Given the description of an element on the screen output the (x, y) to click on. 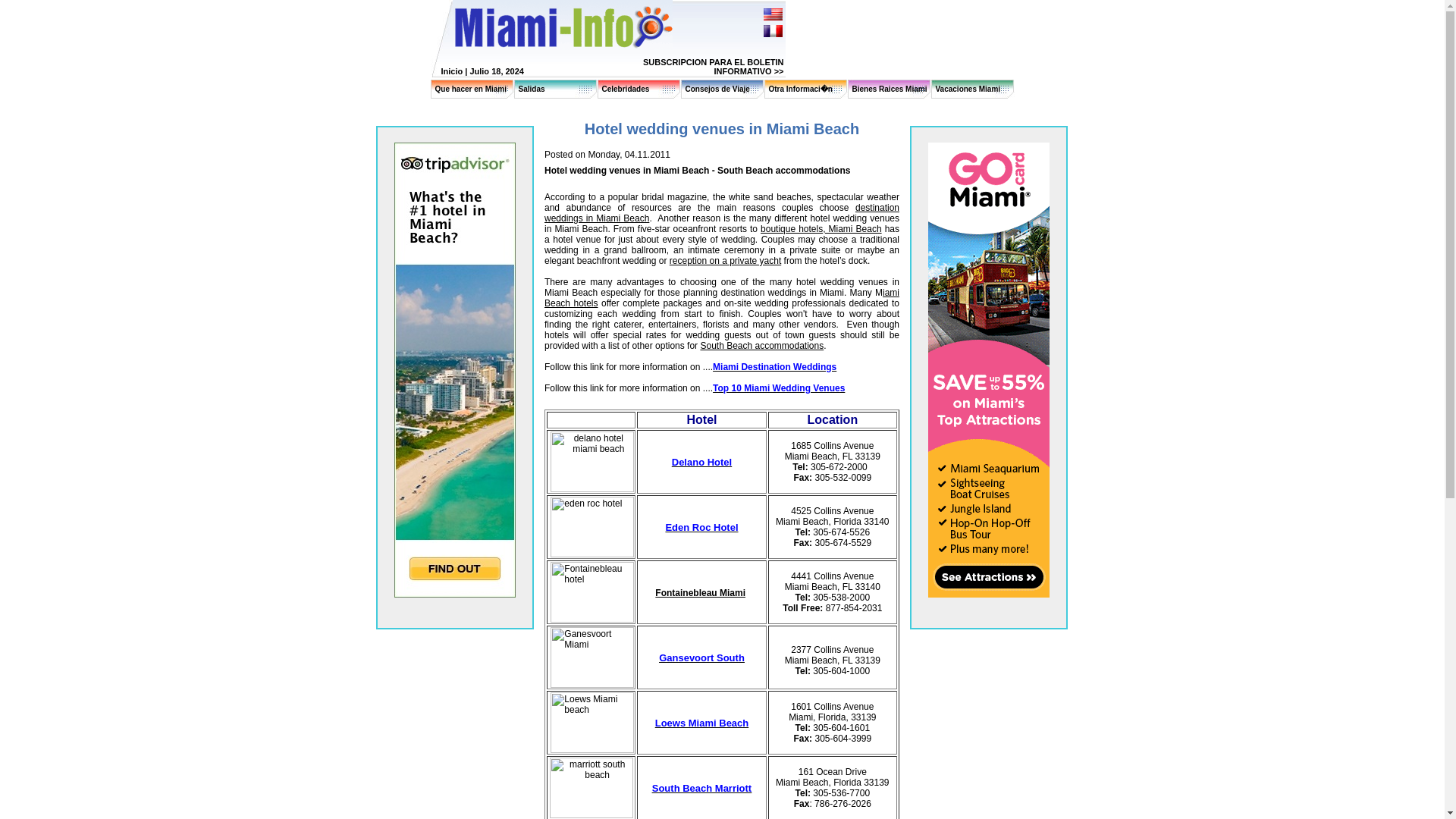
Top 10 wedding venues in miami beach (778, 388)
Salidas (531, 89)
Que hacer en Miami (470, 89)
Inicio (452, 71)
south beach accomodations (762, 345)
Ganesvoort Miami (591, 657)
miami hotels (721, 297)
Celebridades (625, 89)
Bienes Raices Miami (889, 89)
weddings on a yach (724, 260)
fontainebleau Hotel Miami (700, 592)
destimnation weddings in south beach (774, 366)
Fontainebleau hotel (591, 591)
Consejos de Viaje (717, 89)
Vacaciones Miami (968, 89)
